Given the description of an element on the screen output the (x, y) to click on. 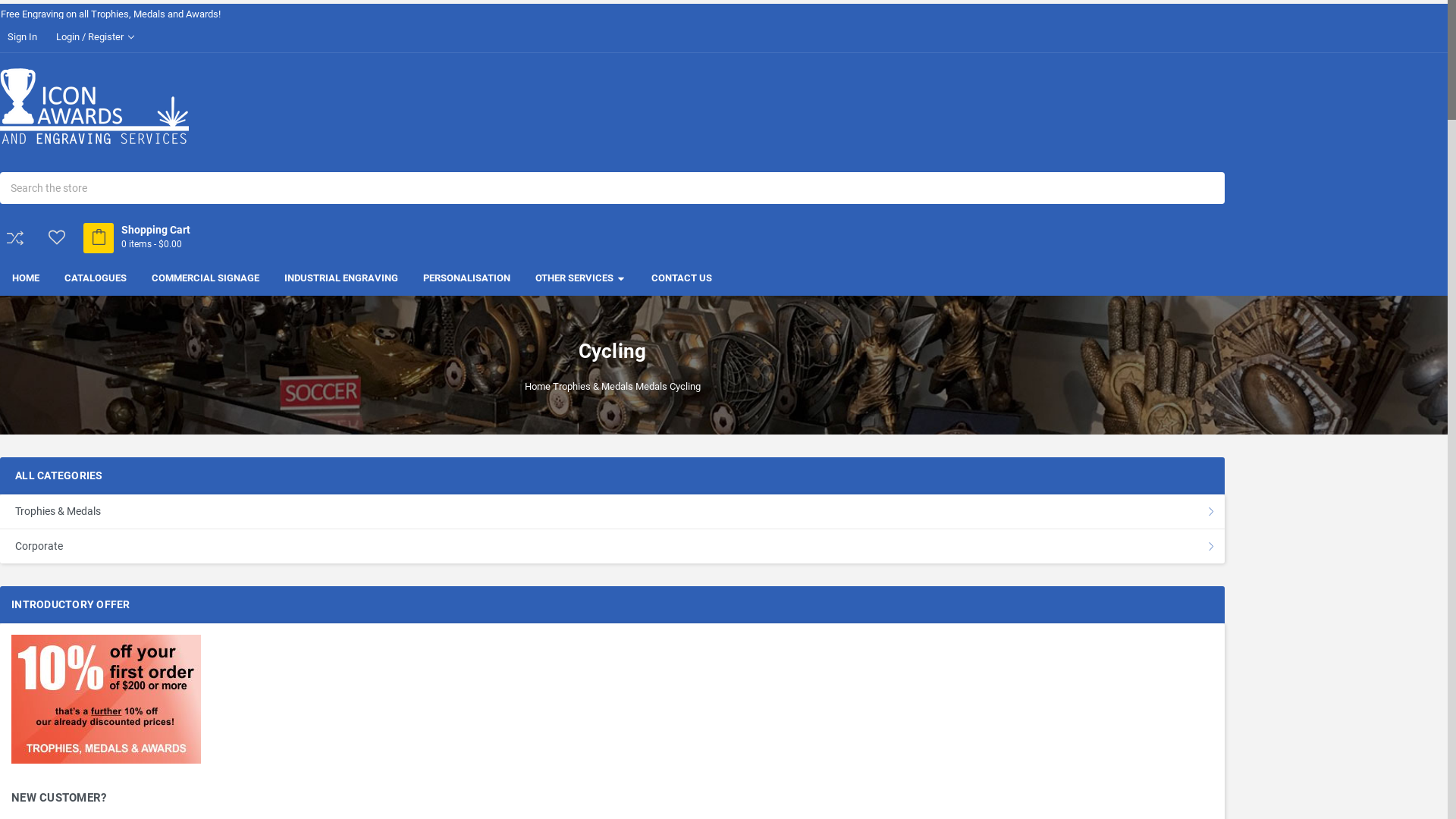
Quantity Discounts on Trophies, Medals and Awards! Element type: text (113, 12)
Medals Element type: text (651, 386)
COMMERCIAL SIGNAGE Element type: text (205, 277)
Shopping Cart
0 items - $0.00 Element type: text (143, 237)
CONTACT US Element type: text (681, 277)
PERSONALISATION Element type: text (466, 277)
Login / Register Element type: text (92, 37)
Sign In Element type: text (22, 37)
Icon Awards and Engraving Services Element type: hover (94, 106)
Trophies & Medals Element type: text (592, 386)
Cycling Element type: text (683, 386)
CATALOGUES Element type: text (95, 277)
Home Element type: text (537, 386)
Trophies & Medals Element type: text (612, 511)
Corporate Element type: text (612, 546)
NEW CUSTOMER? Element type: text (612, 797)
OTHER SERVICES Element type: text (580, 277)
HOME Element type: text (25, 277)
INDUSTRIAL ENGRAVING Element type: text (341, 277)
